Given the description of an element on the screen output the (x, y) to click on. 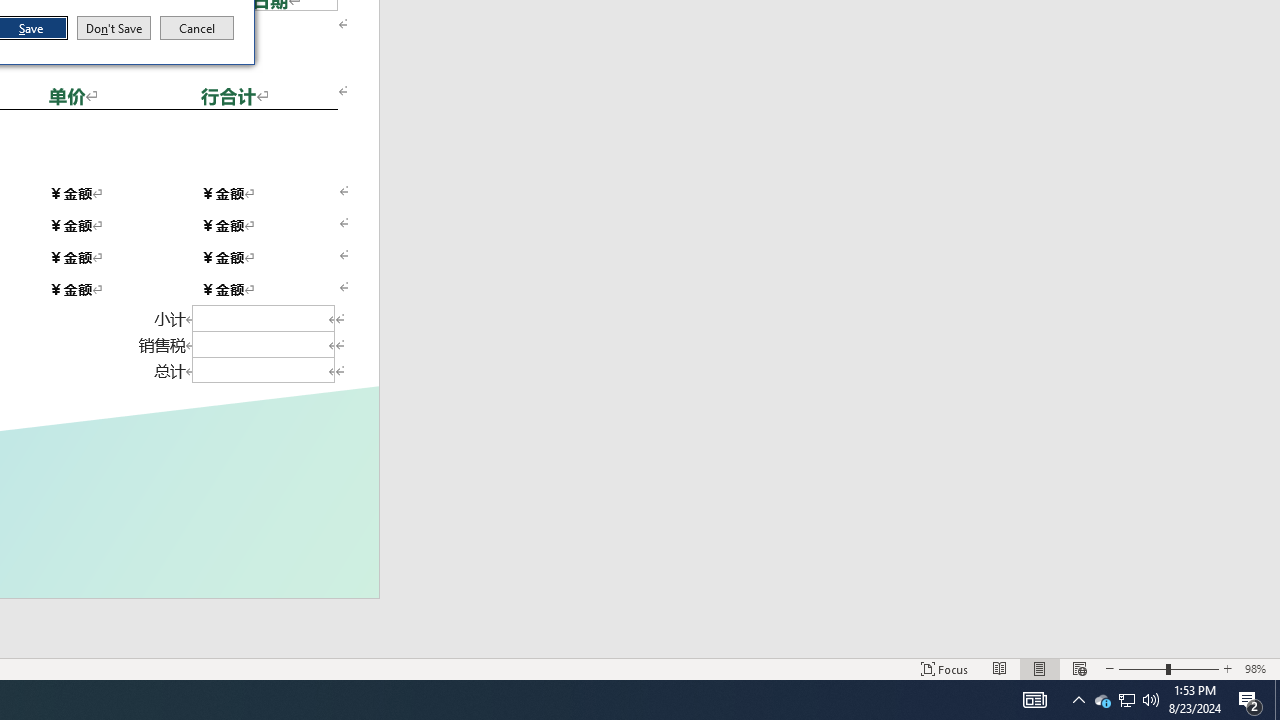
Cancel (1102, 699)
